Given the description of an element on the screen output the (x, y) to click on. 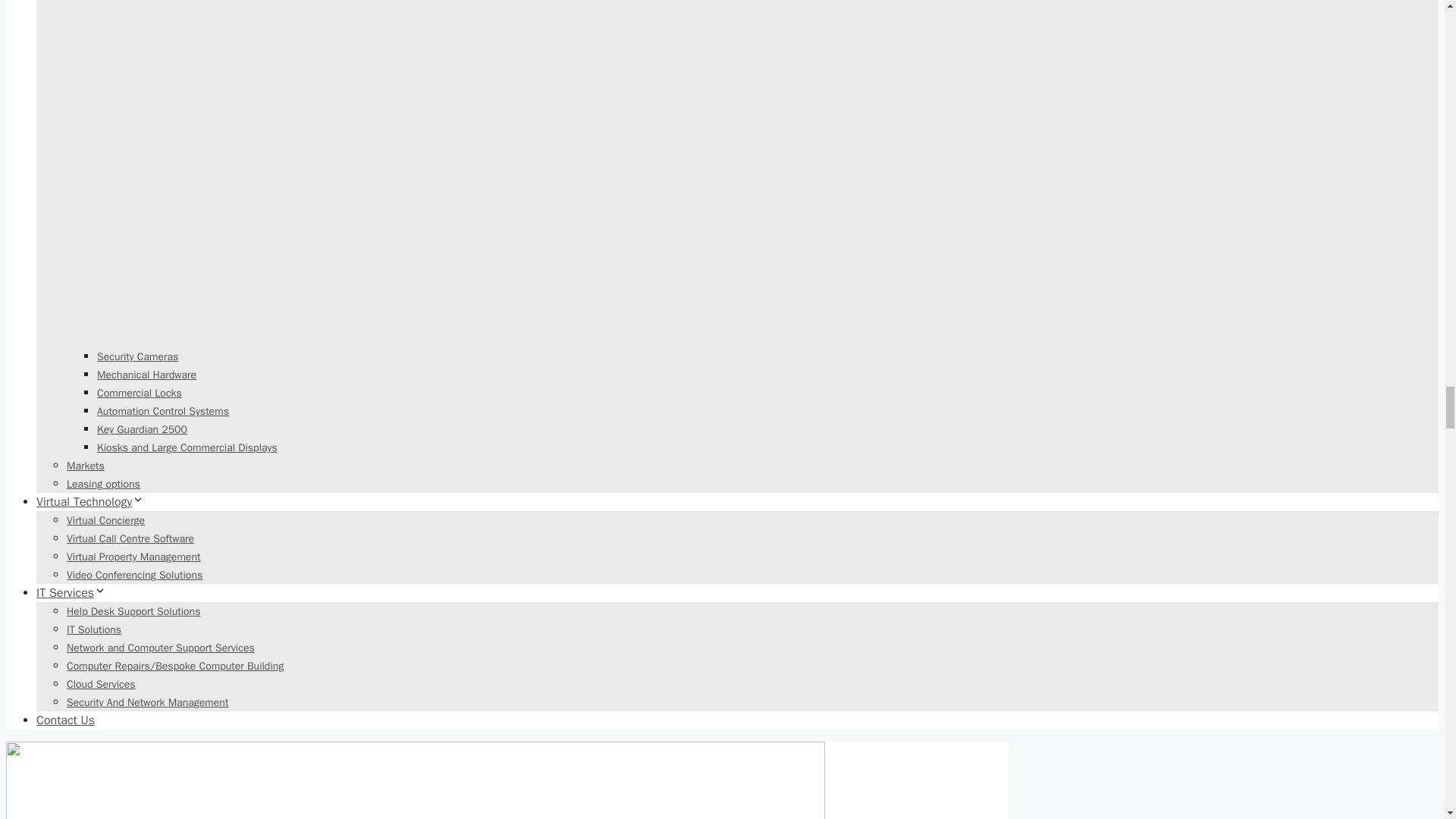
Virtual Property Management (133, 556)
IT Services (71, 592)
Markets (85, 465)
Contact Us (65, 720)
Virtual Technology (90, 501)
Network and Computer Support Services (160, 647)
Security Cameras (137, 356)
Key Guardian 2500 (142, 429)
Automation Control Systems (162, 410)
Video Conferencing Solutions (134, 574)
